Given the description of an element on the screen output the (x, y) to click on. 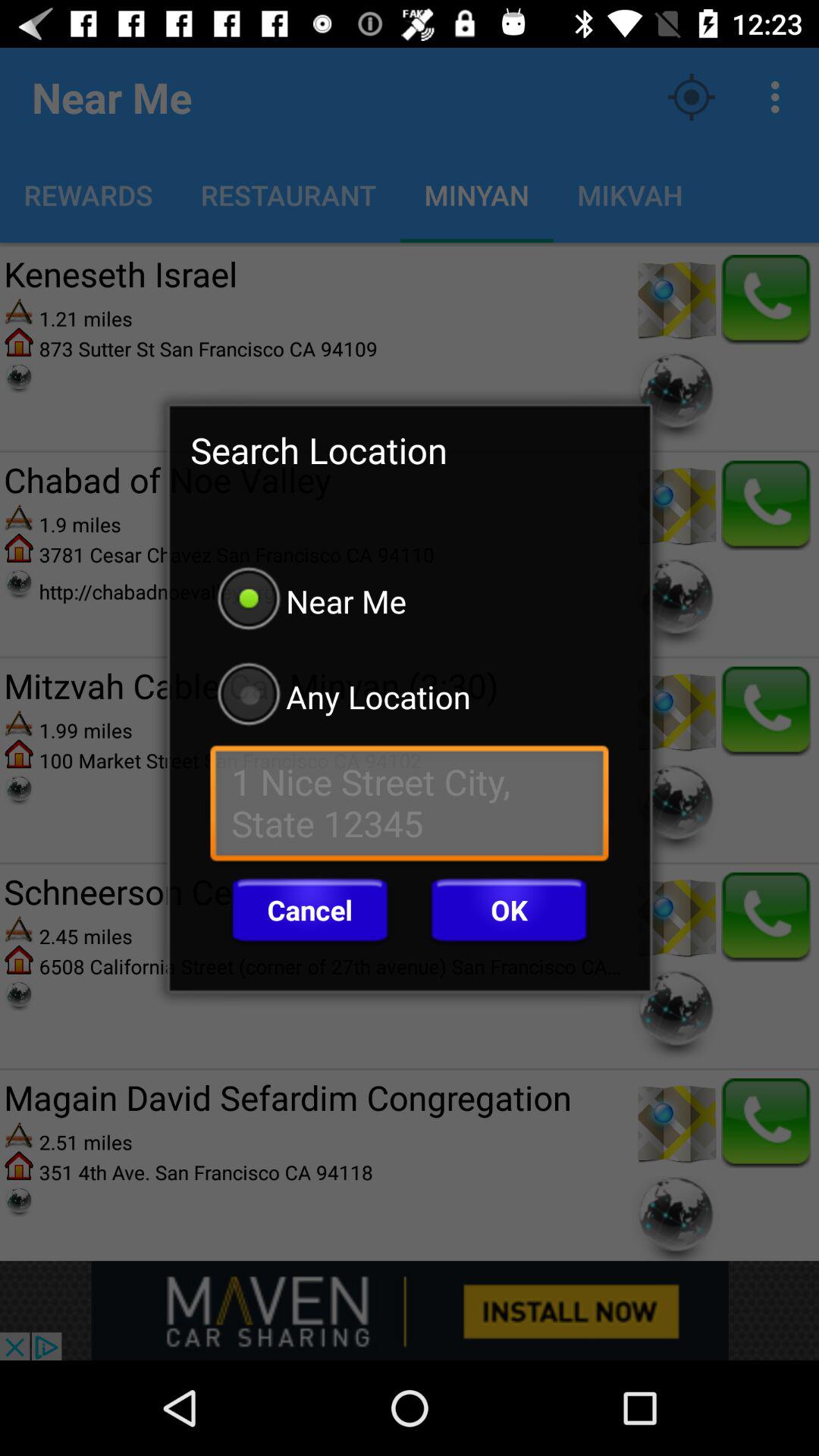
turn off icon to the left of the ok (309, 909)
